Given the description of an element on the screen output the (x, y) to click on. 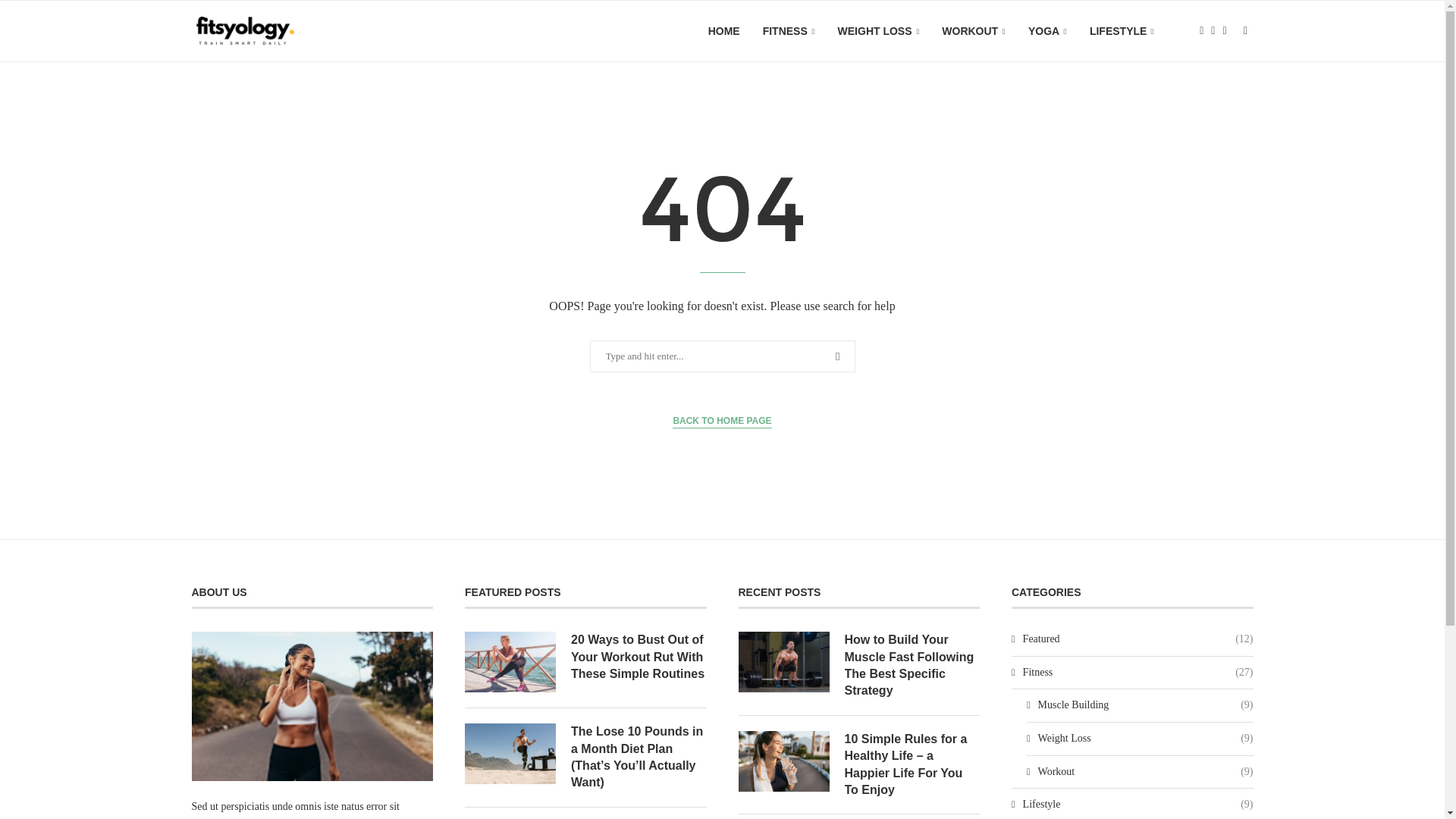
Search (35, 15)
WORKOUT (974, 31)
WEIGHT LOSS (879, 31)
LIFESTYLE (1121, 31)
BACK TO HOME PAGE (721, 421)
